Given the description of an element on the screen output the (x, y) to click on. 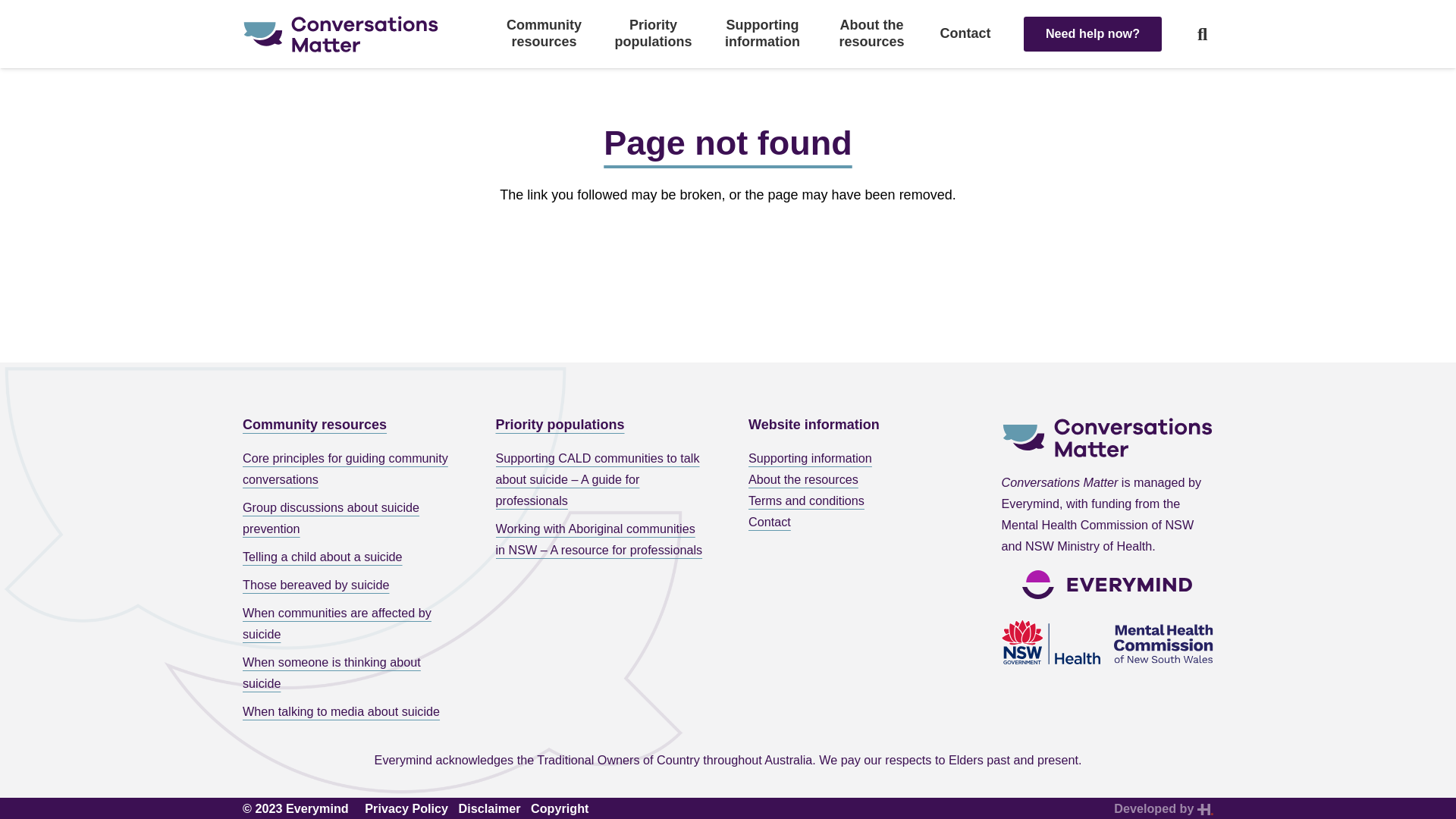
Disclaimer Element type: text (489, 808)
Those bereaved by suicide Element type: text (348, 584)
Priority populations Element type: text (653, 33)
Privacy Policy Element type: text (406, 808)
Contact Element type: text (965, 33)
Contact Element type: text (769, 521)
About the resources Element type: text (803, 479)
When communities are affected by suicide Element type: text (348, 623)
Core principles for guiding community conversations Element type: text (348, 468)
Priority populations Element type: text (559, 424)
Group discussions about suicide prevention Element type: text (348, 517)
Need help now? Element type: text (1092, 33)
Supporting information Element type: text (810, 457)
Supporting information Element type: text (762, 33)
Copyright Element type: text (559, 808)
Community resources Element type: text (314, 424)
Website Design and Development by HyperWeb Newcastle NSW Element type: hover (1205, 808)
Community resources Element type: text (544, 33)
When talking to media about suicide Element type: text (348, 710)
When someone is thinking about suicide Element type: text (348, 672)
Telling a child about a suicide Element type: text (348, 556)
About the resources Element type: text (871, 33)
Terms and conditions Element type: text (806, 500)
